Given the description of an element on the screen output the (x, y) to click on. 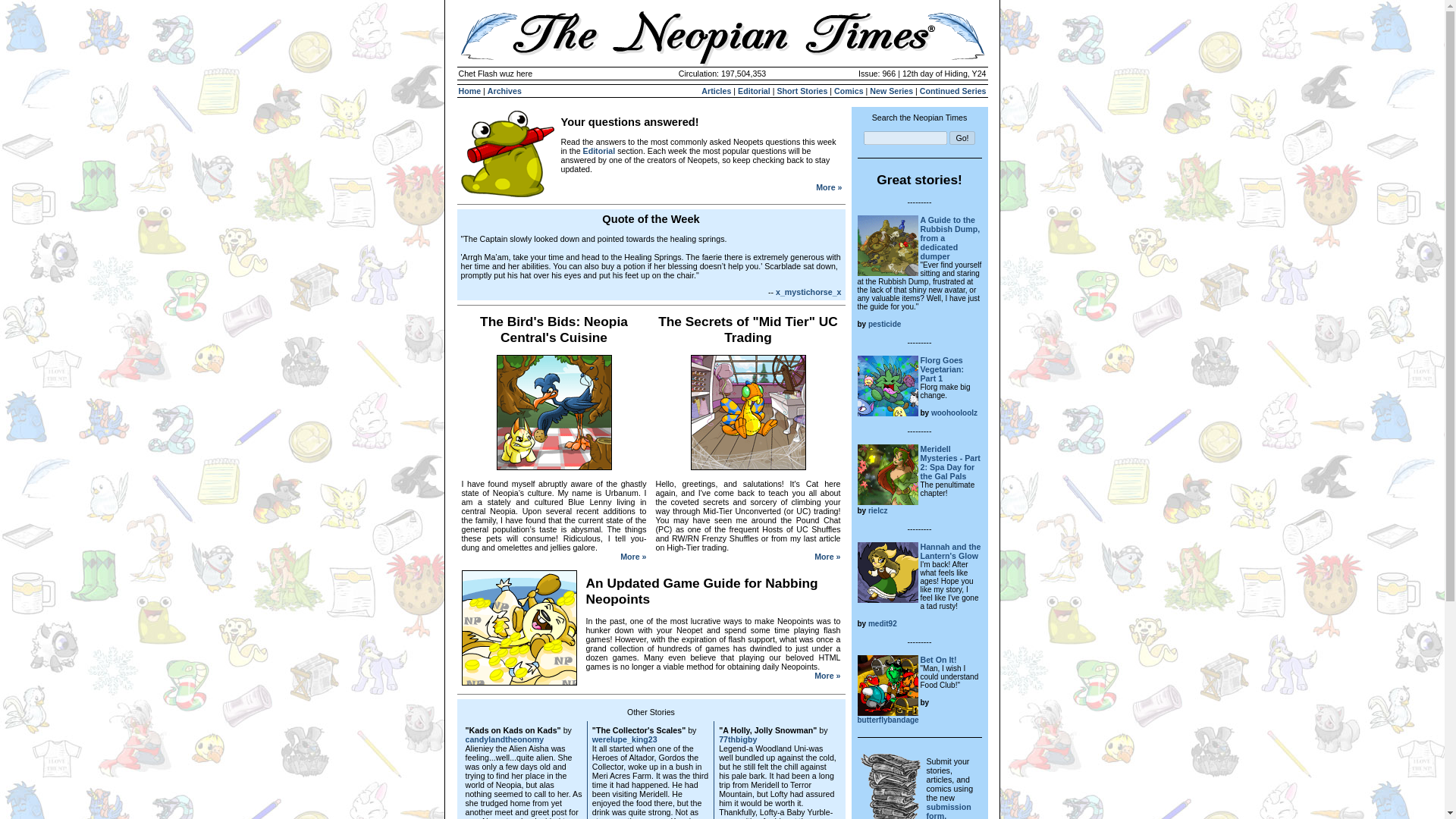
Florg Goes Vegetarian: Part 1 (941, 369)
Continued Series (953, 90)
New Series (890, 90)
77thbigby (738, 738)
Go! (961, 137)
Articles (715, 90)
Archives (504, 90)
Comics (848, 90)
Editorial (599, 149)
A Guide to the Rubbish Dump, from a dedicated dumper (949, 238)
medit92 (881, 623)
Hannah and the Lantern's Glow (950, 551)
Meridell Mysteries - Part 2: Spa Day for the Gal Pals (949, 462)
candylandtheonomy (504, 738)
Bet On It! (938, 659)
